Given the description of an element on the screen output the (x, y) to click on. 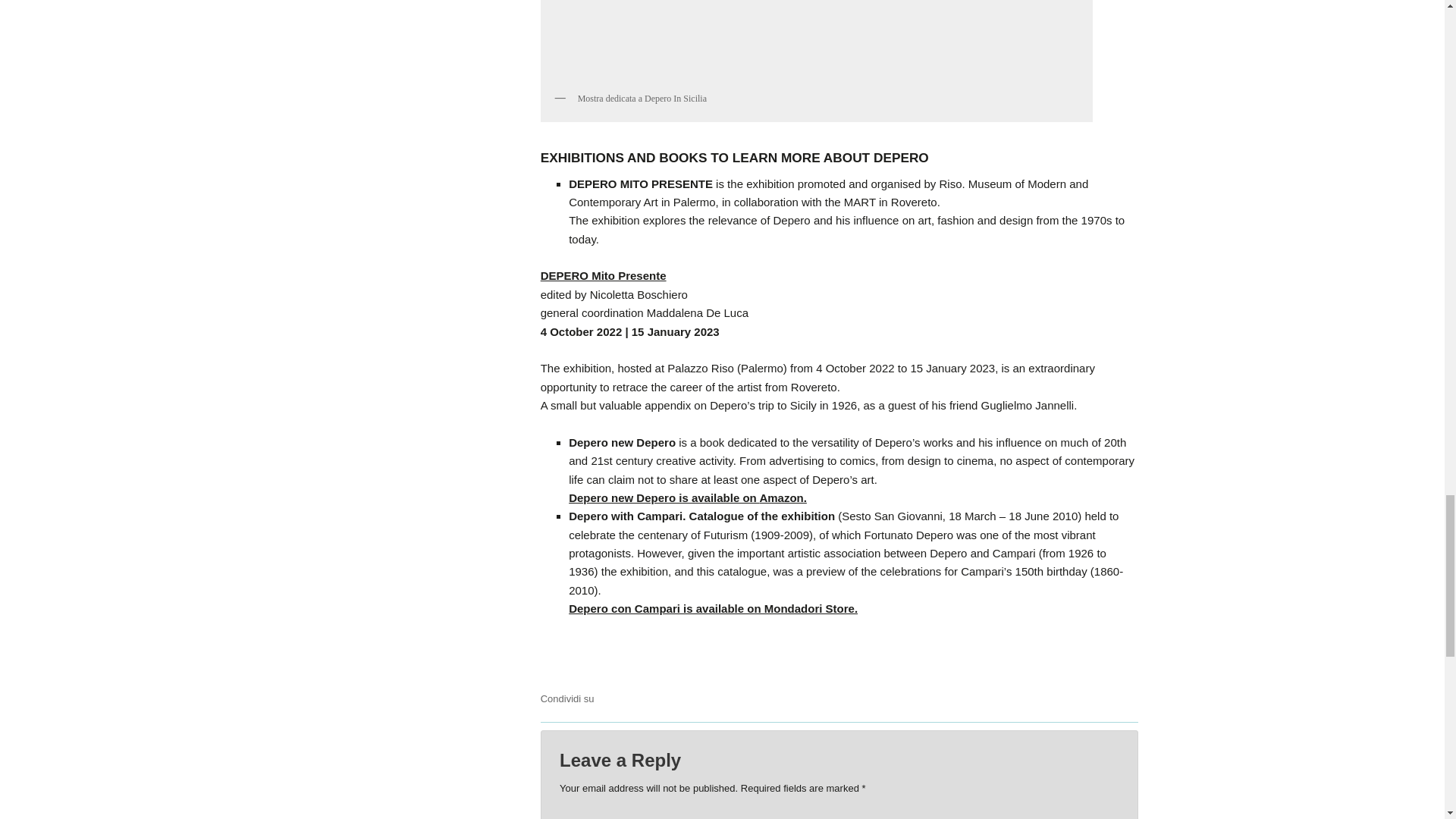
Depero con Campari is available on Mondadori Store. (713, 608)
Depero new Depero is available on Amazon. (687, 497)
DEPERO Mito Presente (603, 275)
